Given the description of an element on the screen output the (x, y) to click on. 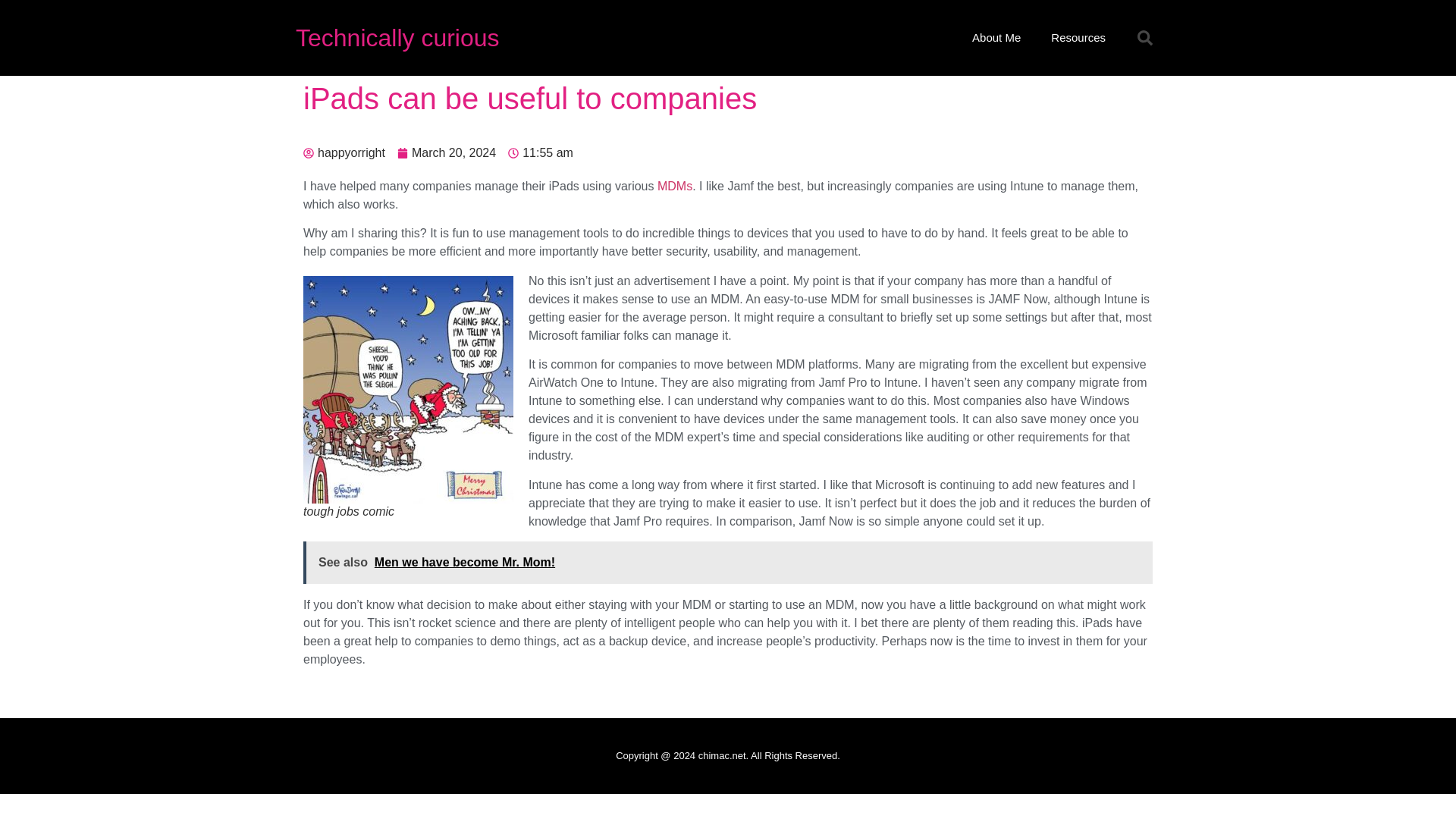
See also  Men we have become Mr. Mom! (727, 562)
happyorright (343, 153)
tough jobs comic (407, 389)
Resources (1078, 38)
MDMs (675, 185)
Technically curious (397, 37)
About Me (995, 38)
March 20, 2024 (446, 153)
